Given the description of an element on the screen output the (x, y) to click on. 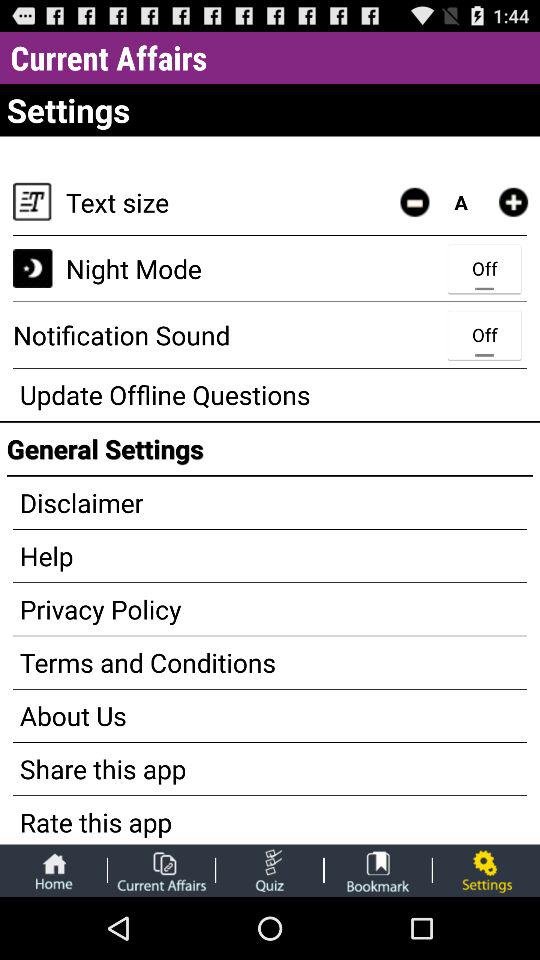
decrease text size (414, 202)
